Given the description of an element on the screen output the (x, y) to click on. 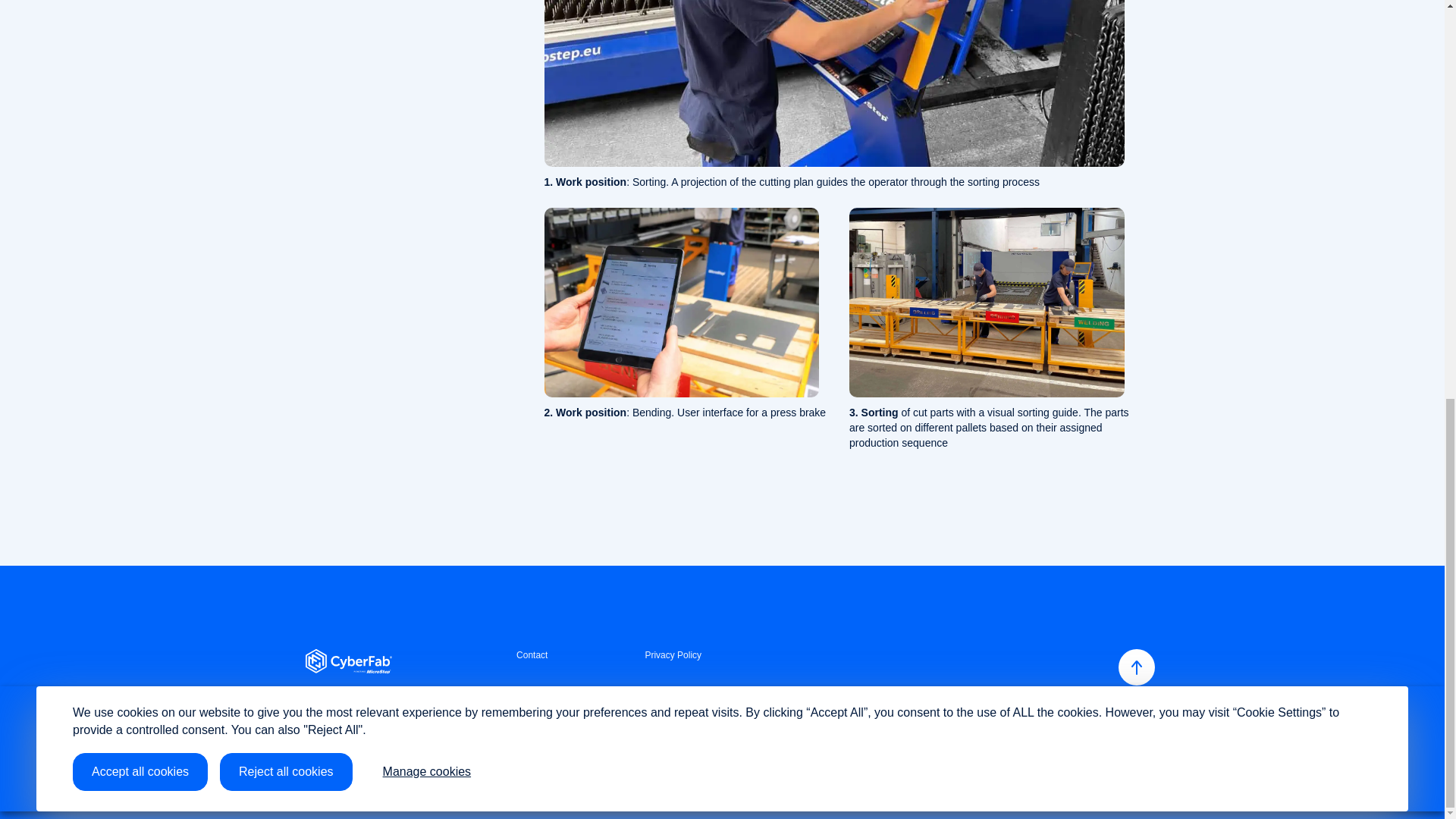
Manage cookies (427, 8)
Privacy Policy (673, 655)
Contact (531, 655)
Reject all cookies (285, 7)
CyberFab Sorting (986, 301)
Accept all cookies (140, 7)
CyberFab Sorting (986, 302)
